Given the description of an element on the screen output the (x, y) to click on. 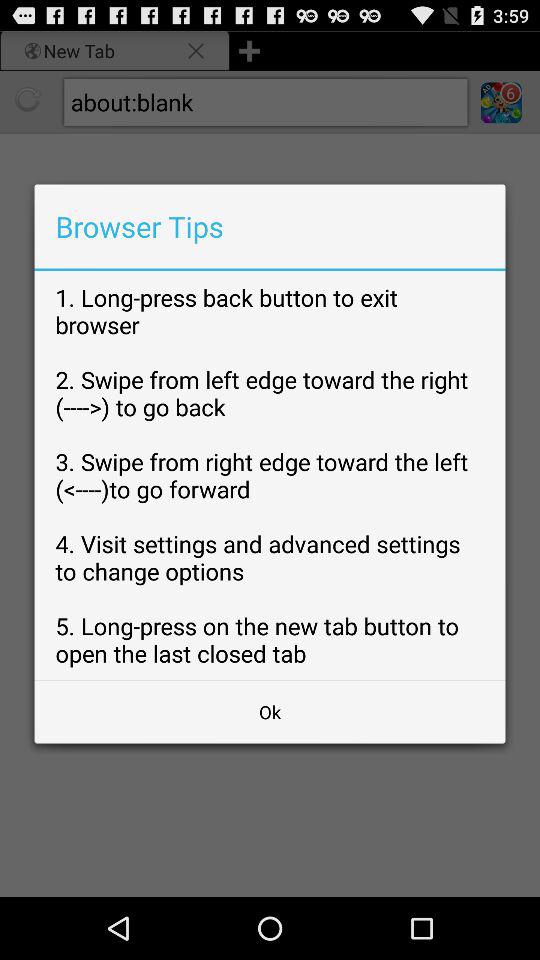
swipe to the ok button (269, 711)
